Given the description of an element on the screen output the (x, y) to click on. 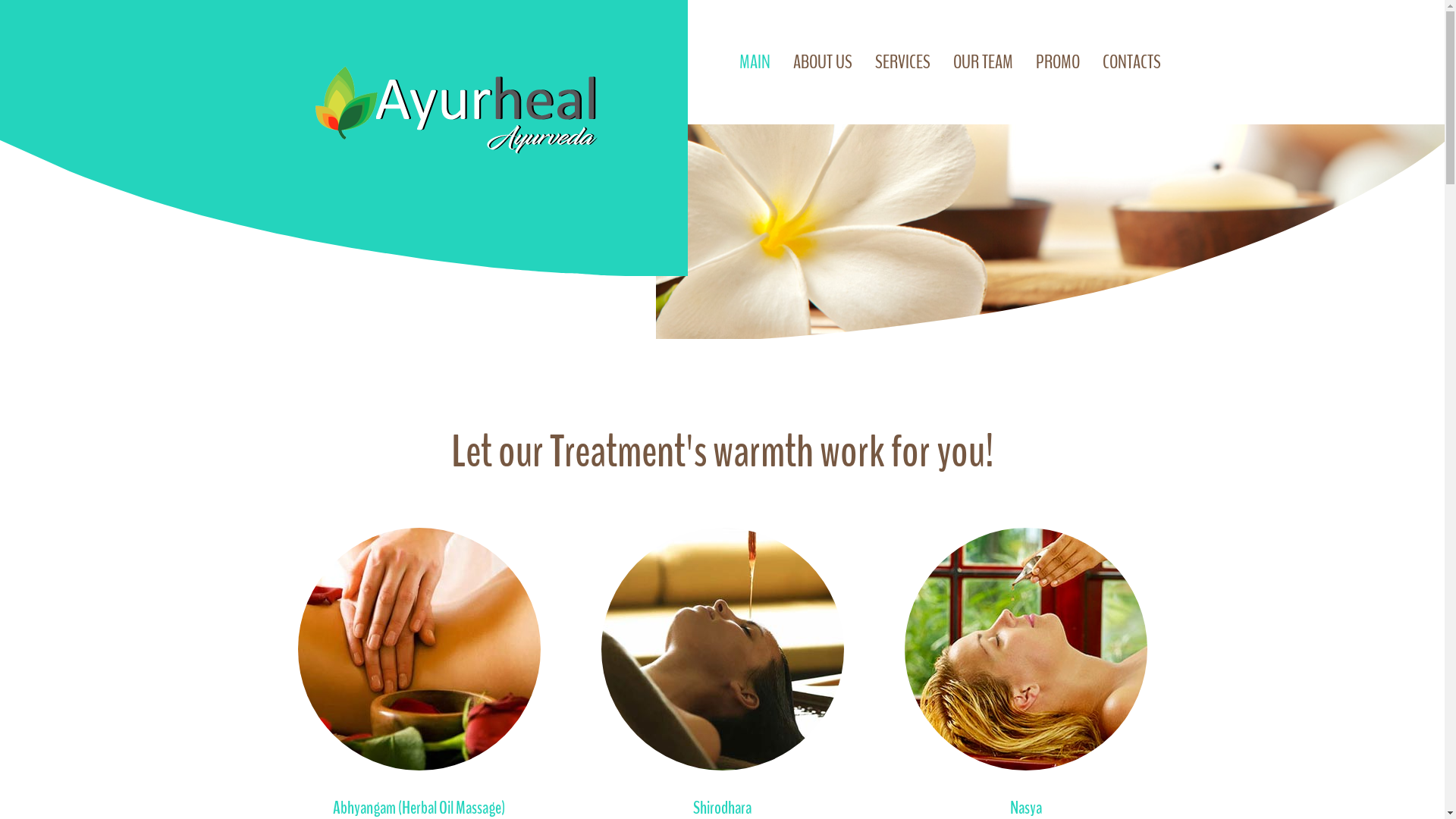
MAIN Element type: text (753, 62)
SERVICES Element type: text (902, 62)
PROMO Element type: text (1057, 62)
CONTACTS Element type: text (1131, 62)
OUR TEAM Element type: text (982, 62)
ABOUT US Element type: text (822, 62)
